Given the description of an element on the screen output the (x, y) to click on. 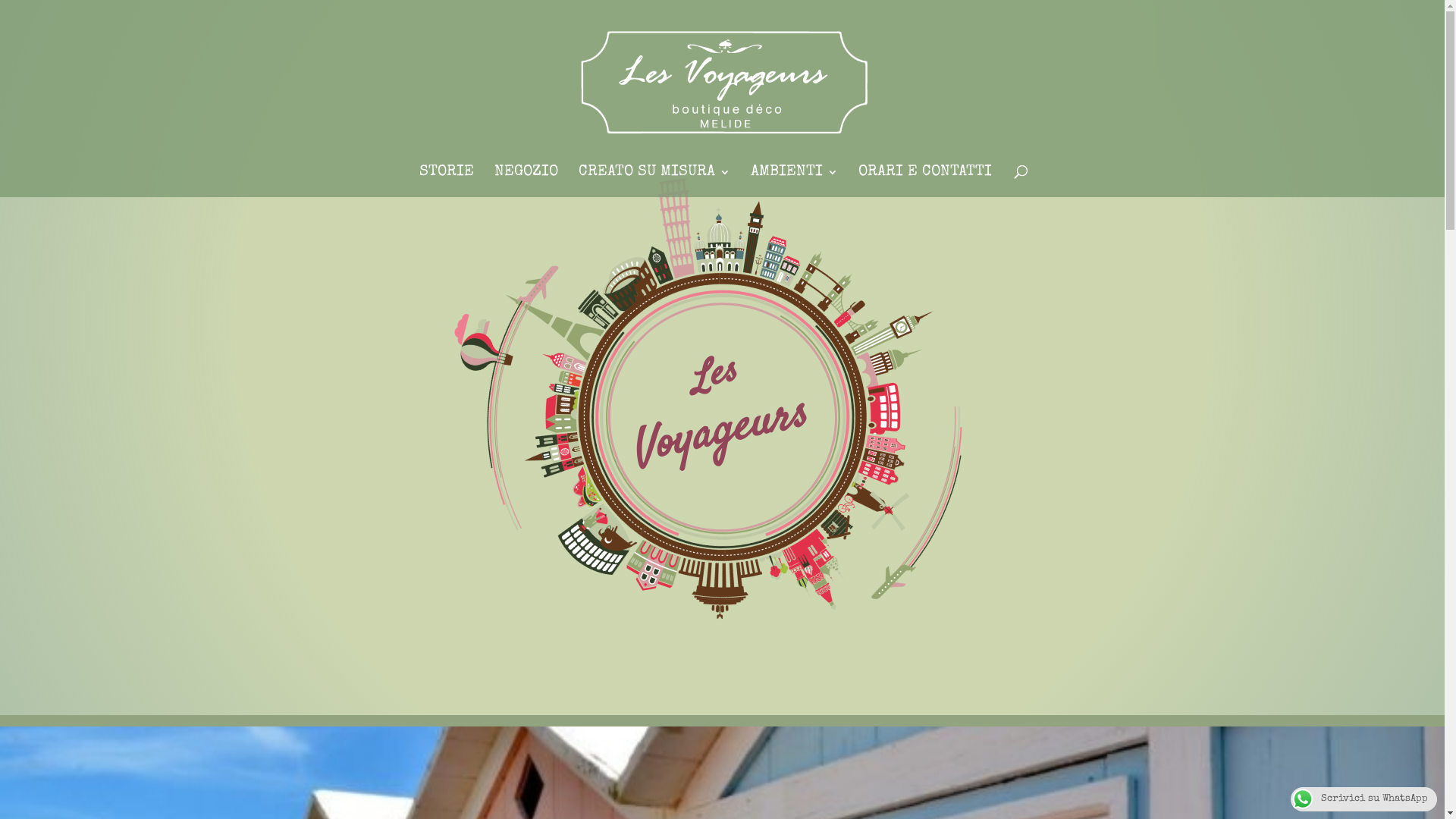
STORIE Element type: text (445, 181)
AMBIENTI Element type: text (793, 181)
CREATO SU MISURA Element type: text (653, 181)
Scrivici su WhatsApp Element type: text (1363, 798)
NEGOZIO Element type: text (526, 181)
ORARI E CONTATTI Element type: text (924, 181)
